Given the description of an element on the screen output the (x, y) to click on. 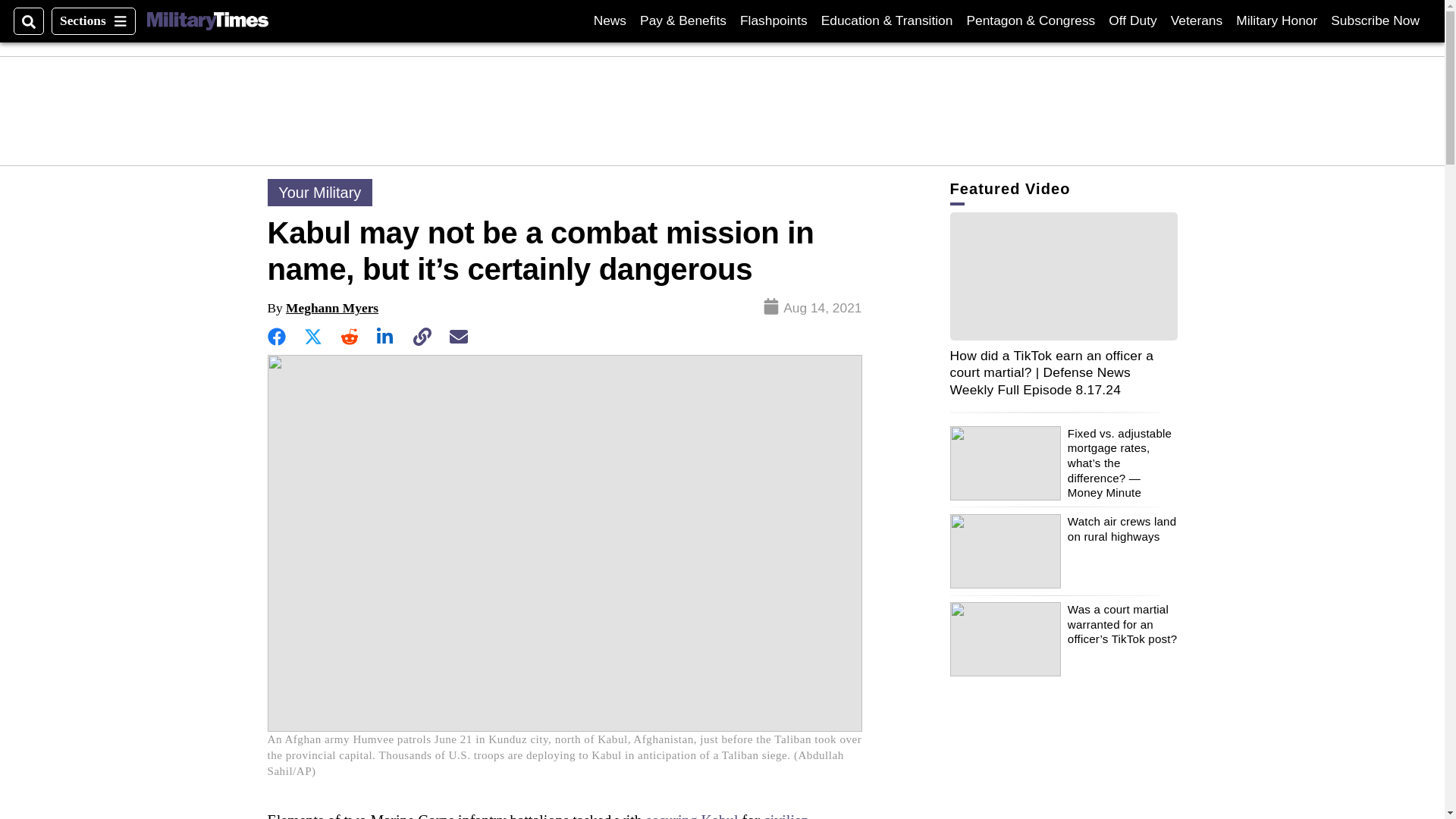
Flashpoints (773, 20)
Military Honor (1276, 20)
Sections (92, 21)
Military Times Logo (207, 21)
Off Duty (1374, 20)
News (1132, 20)
Veterans (610, 20)
